Given the description of an element on the screen output the (x, y) to click on. 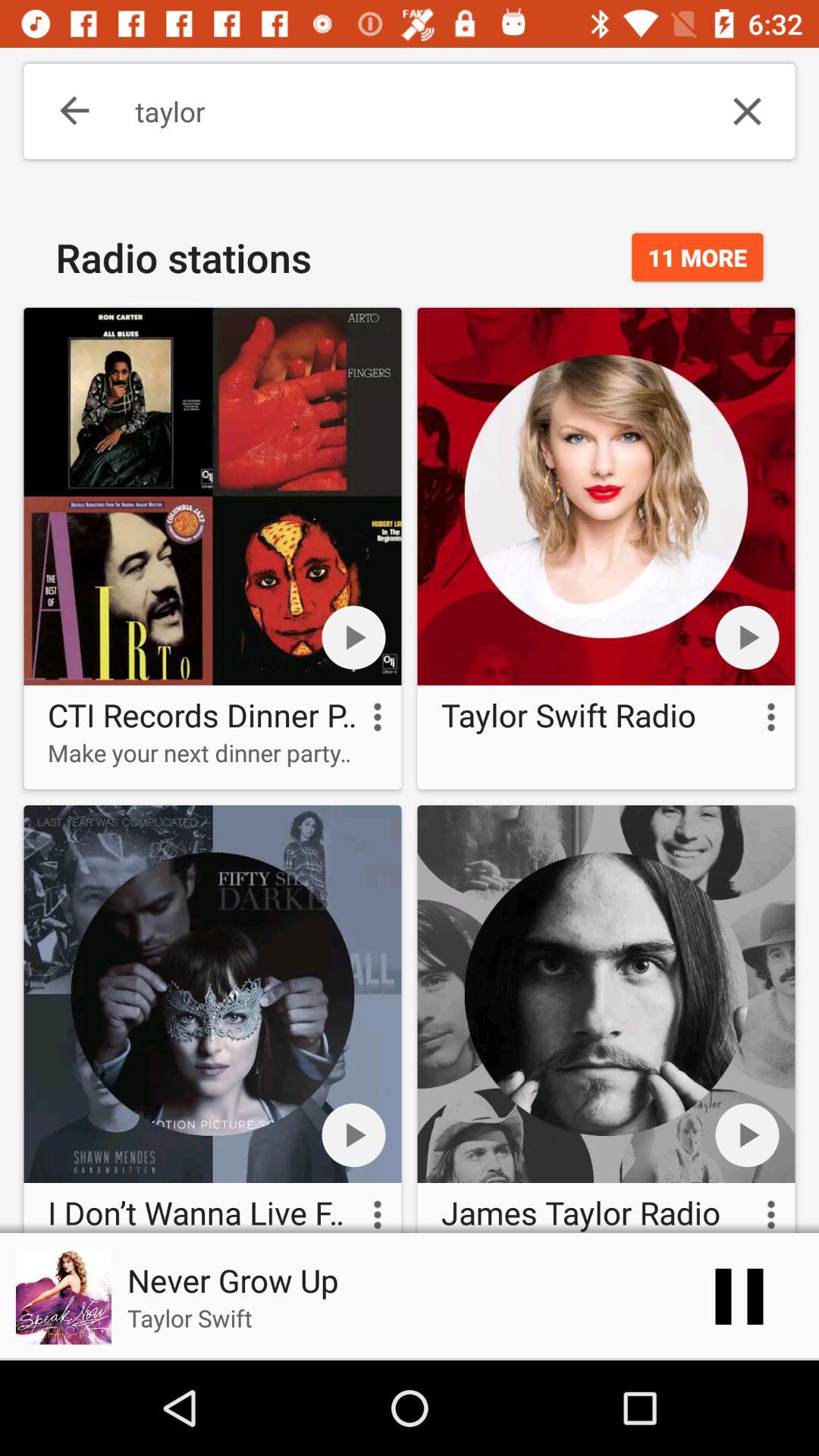
open the item above the radio stations icon (63, 111)
